Given the description of an element on the screen output the (x, y) to click on. 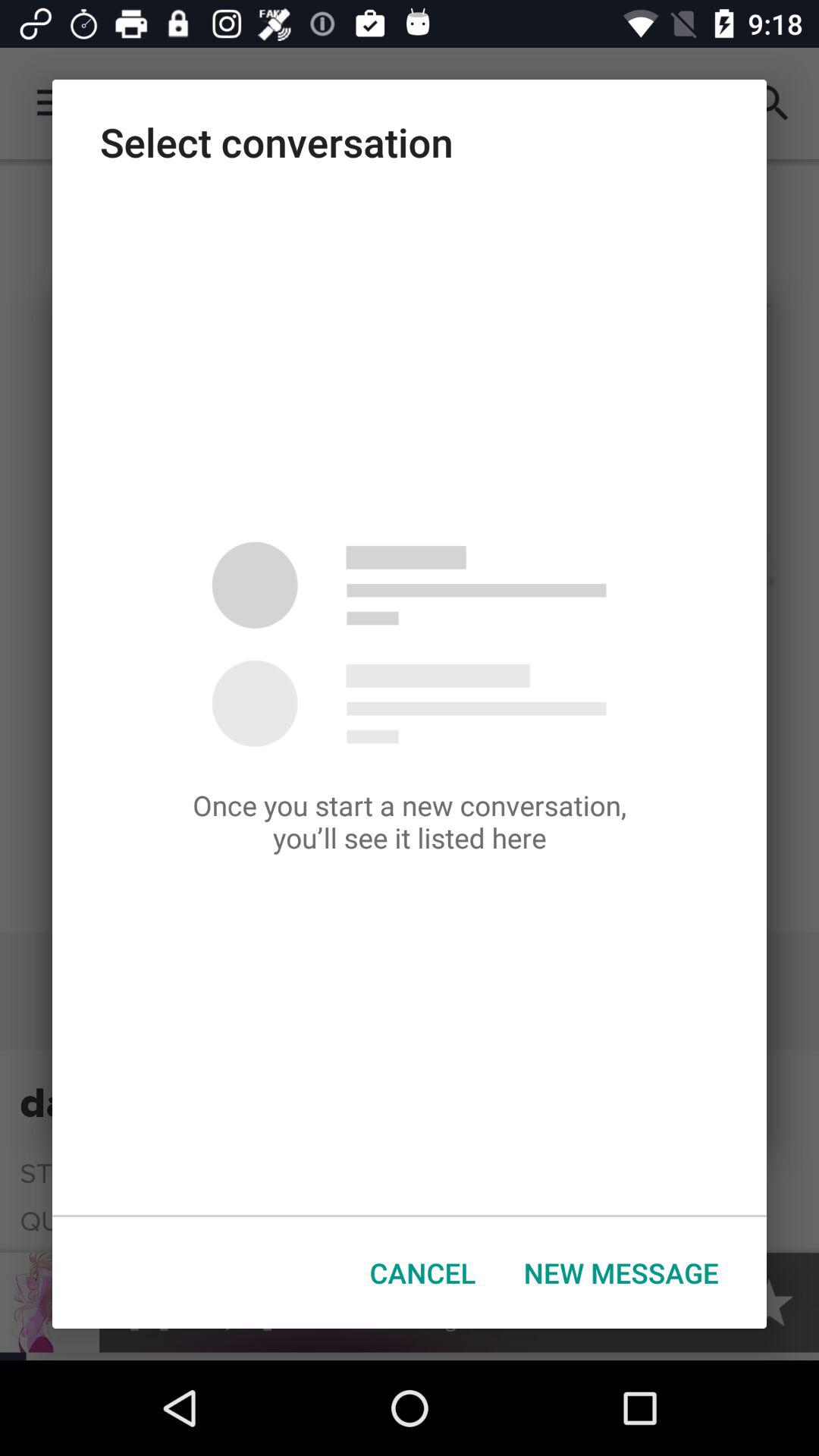
turn on icon next to new message item (422, 1272)
